Given the description of an element on the screen output the (x, y) to click on. 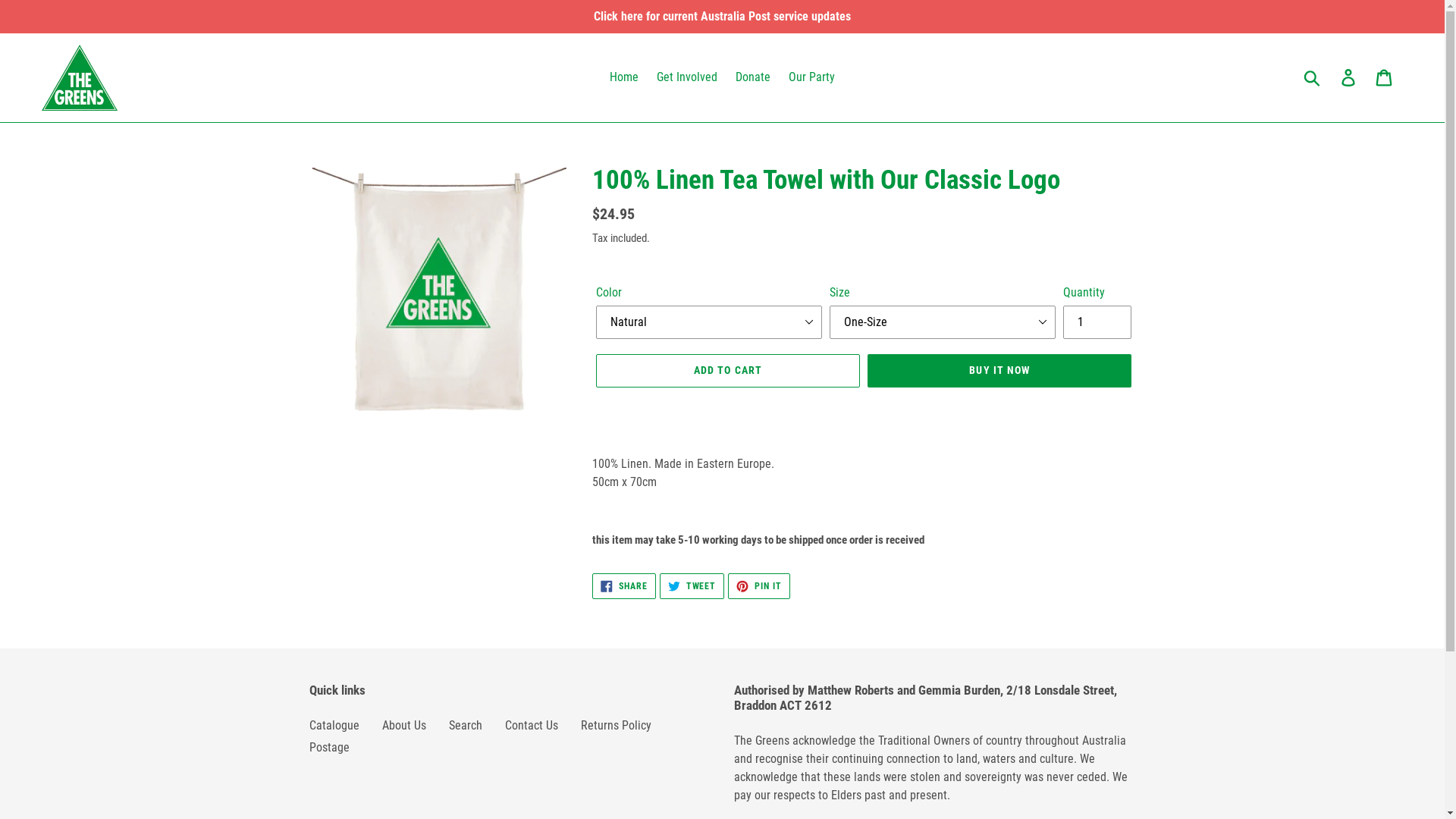
Log in Element type: text (1349, 77)
Home Element type: text (624, 76)
Cart Element type: text (1384, 77)
Returns Policy Element type: text (615, 725)
Contact Us Element type: text (531, 725)
Donate Element type: text (753, 76)
Click here for current Australia Post service updates Element type: text (722, 16)
Submit Element type: text (1312, 77)
Search Element type: text (465, 725)
Get Involved Element type: text (686, 76)
Our Party Element type: text (811, 76)
Catalogue Element type: text (334, 725)
SHARE
SHARE ON FACEBOOK Element type: text (623, 586)
About Us Element type: text (404, 725)
PIN IT
PIN ON PINTEREST Element type: text (759, 586)
TWEET
TWEET ON TWITTER Element type: text (691, 586)
ADD TO CART Element type: text (727, 370)
BUY IT NOW Element type: text (999, 370)
Postage Element type: text (329, 747)
